Given the description of an element on the screen output the (x, y) to click on. 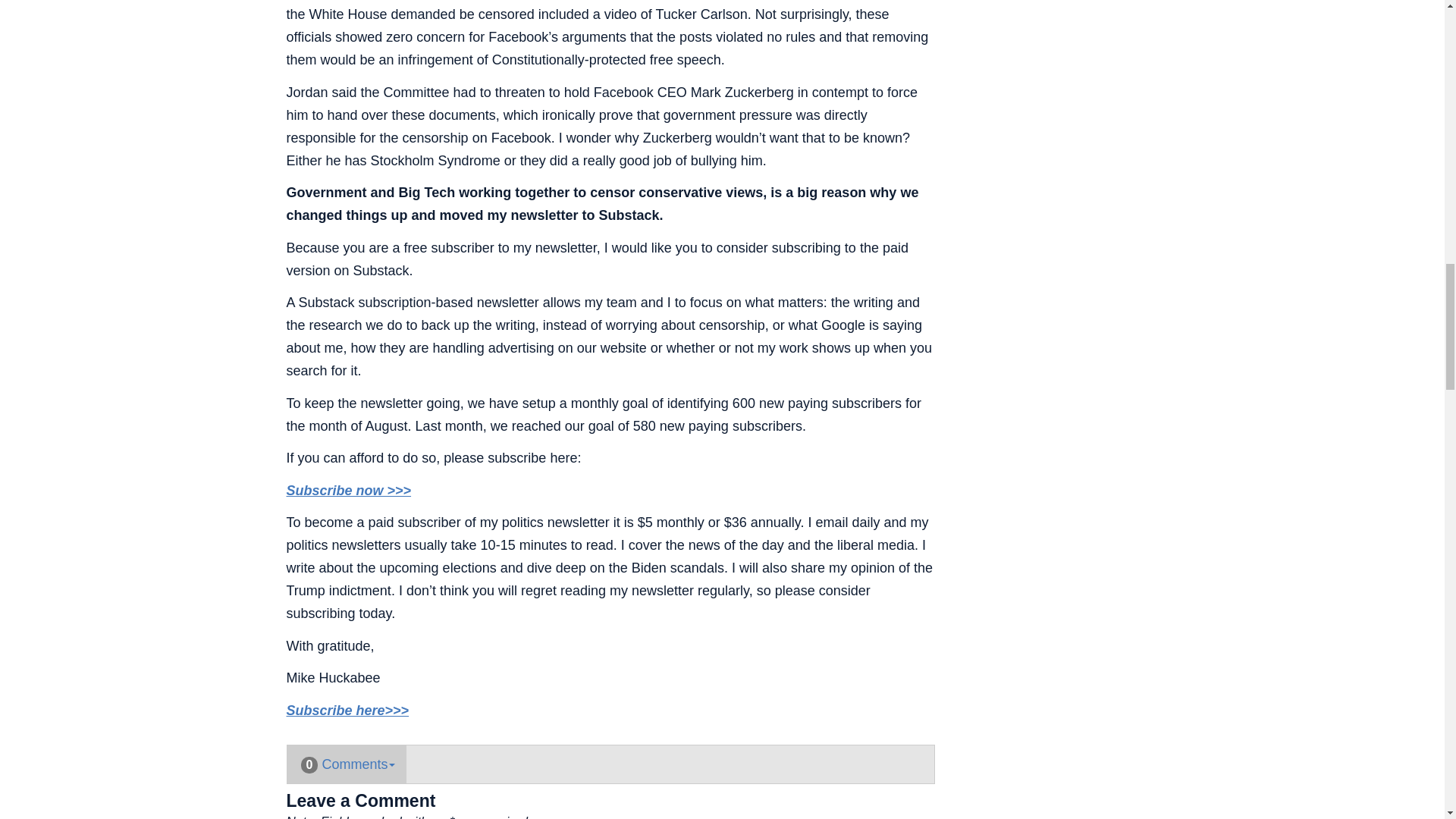
0 Comments (346, 763)
